Given the description of an element on the screen output the (x, y) to click on. 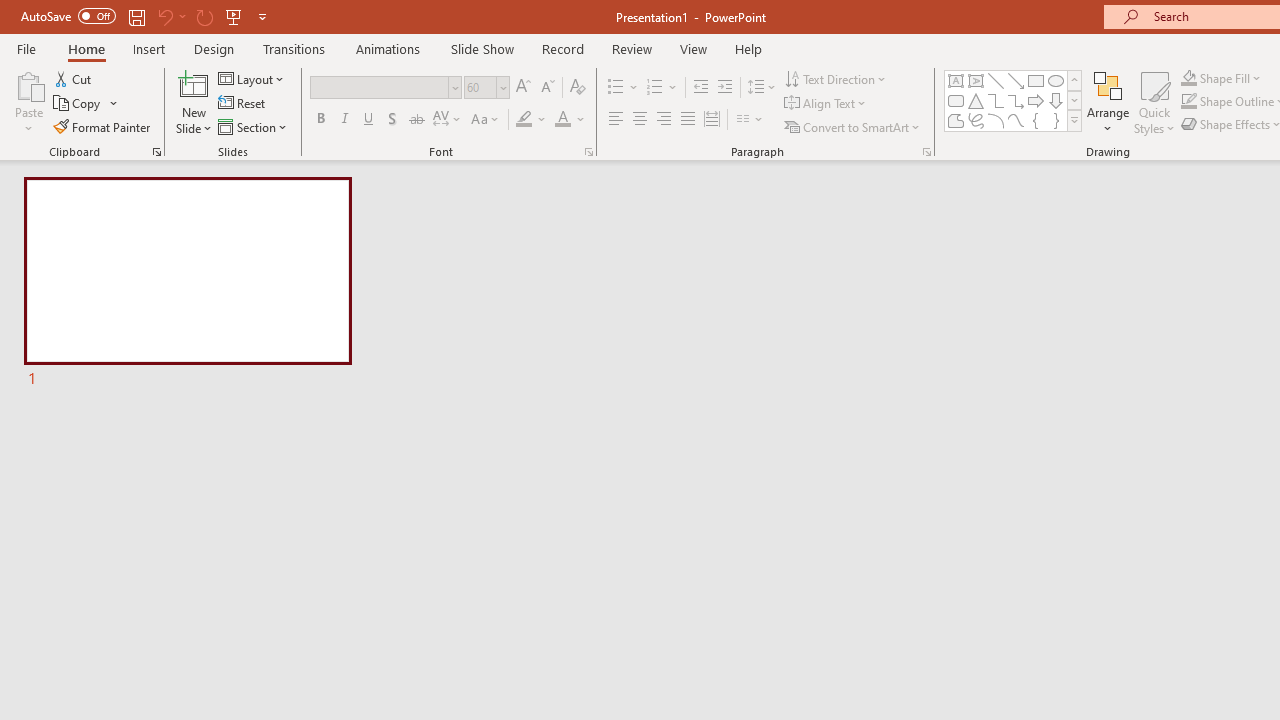
Arrow: Right (1035, 100)
Align Left (616, 119)
Office Clipboard... (156, 151)
Arrange (1108, 102)
Copy (78, 103)
Align Text (826, 103)
Quick Styles (1154, 102)
Left Brace (1035, 120)
Slide (187, 284)
Paste (28, 102)
Shape Fill (1221, 78)
Numbering (654, 87)
File Tab (26, 48)
Justify (687, 119)
New Slide (193, 102)
